Given the description of an element on the screen output the (x, y) to click on. 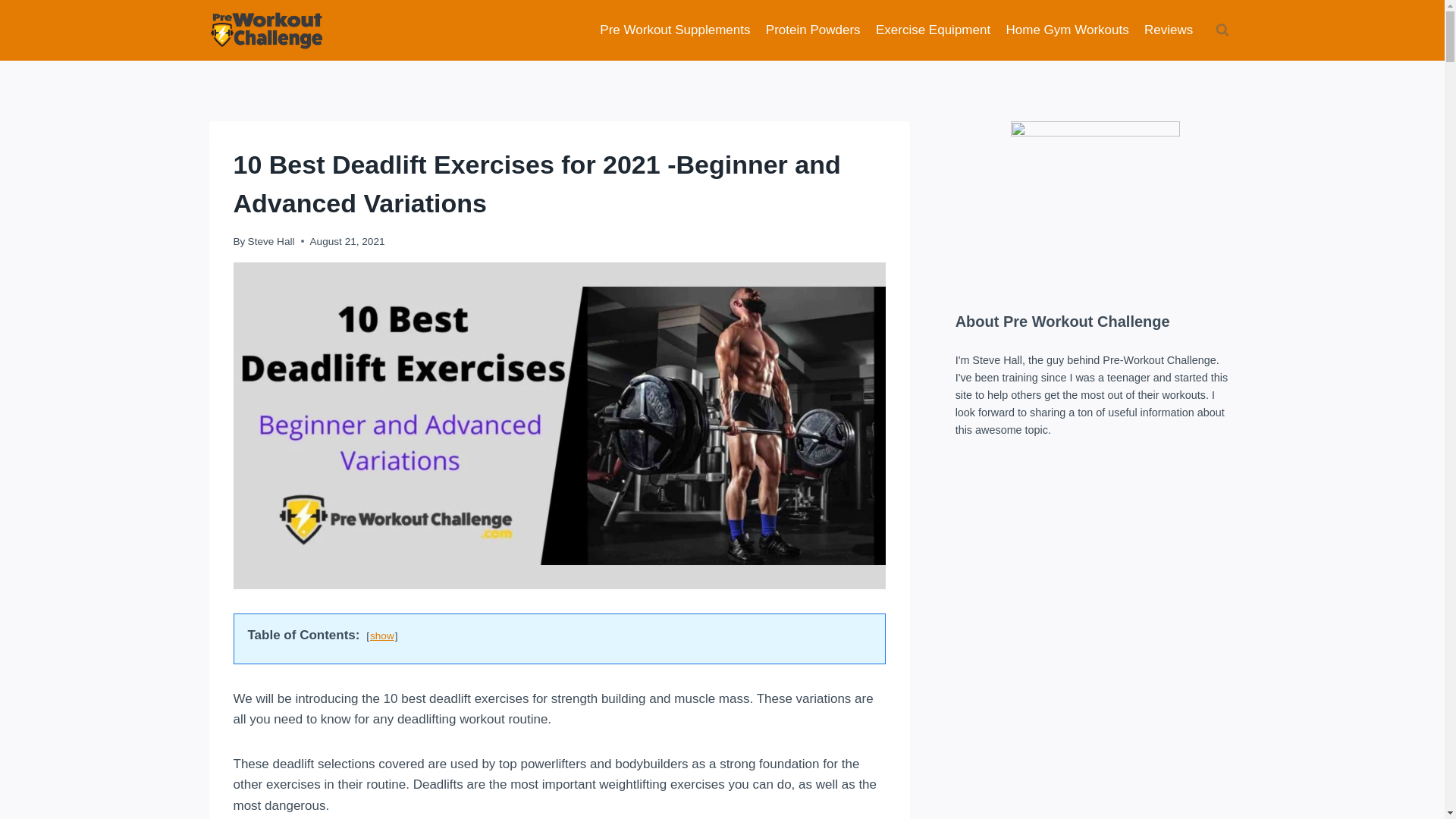
Best Protein Powder (812, 30)
Protein Powders (812, 30)
Pre Workout Supplements (675, 30)
Best Pre Workout Supplements (675, 30)
Best Exercise Equipment for the Home (932, 30)
Home Gym Workouts (1067, 30)
Best Home Gym Workouts (1067, 30)
show (381, 635)
Reviews (1169, 30)
Steve Hall (271, 241)
Exercise Equipment (932, 30)
